Given the description of an element on the screen output the (x, y) to click on. 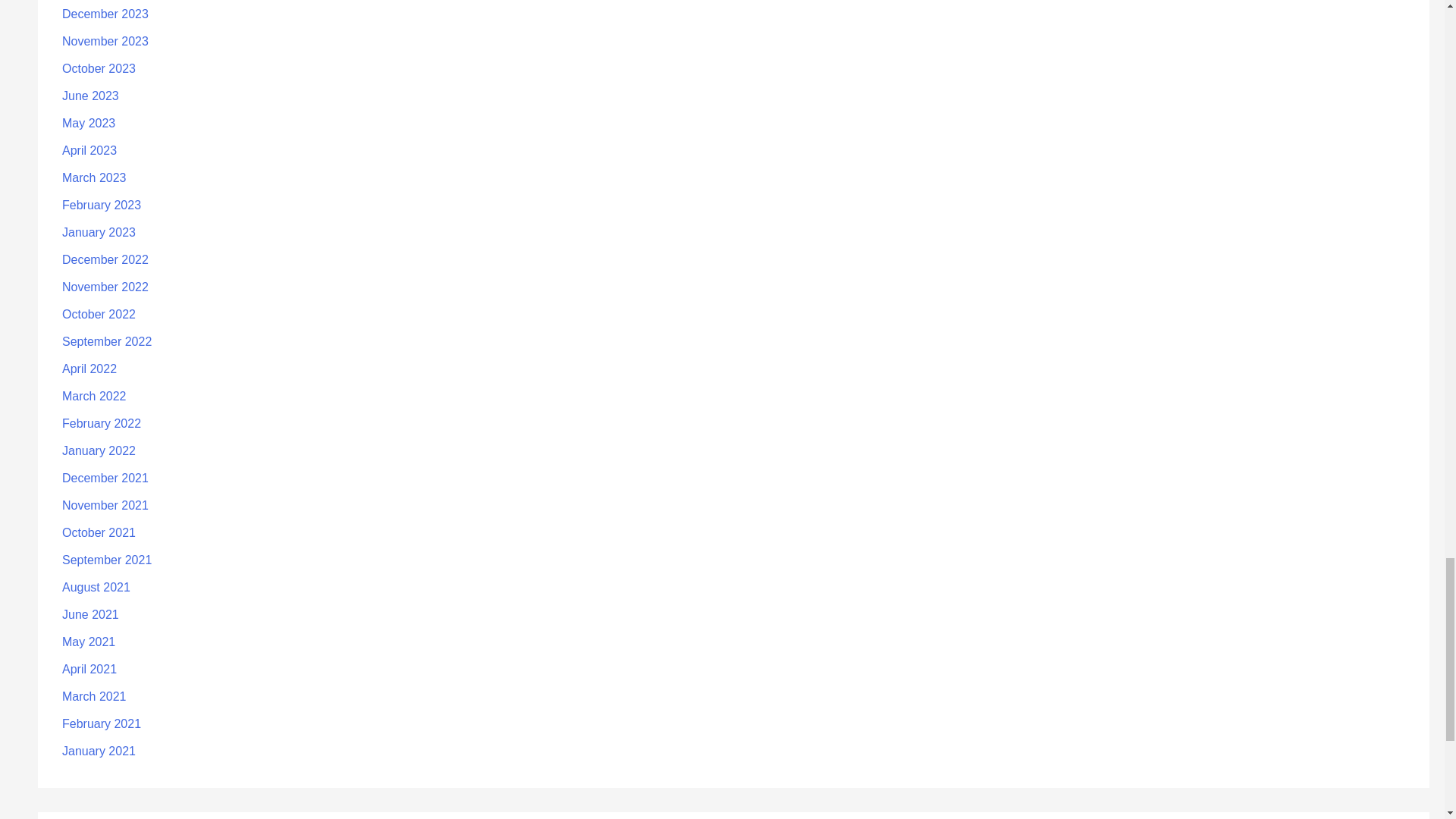
October 2023 (98, 68)
December 2023 (105, 13)
June 2023 (90, 95)
May 2023 (88, 123)
November 2023 (105, 41)
